Given the description of an element on the screen output the (x, y) to click on. 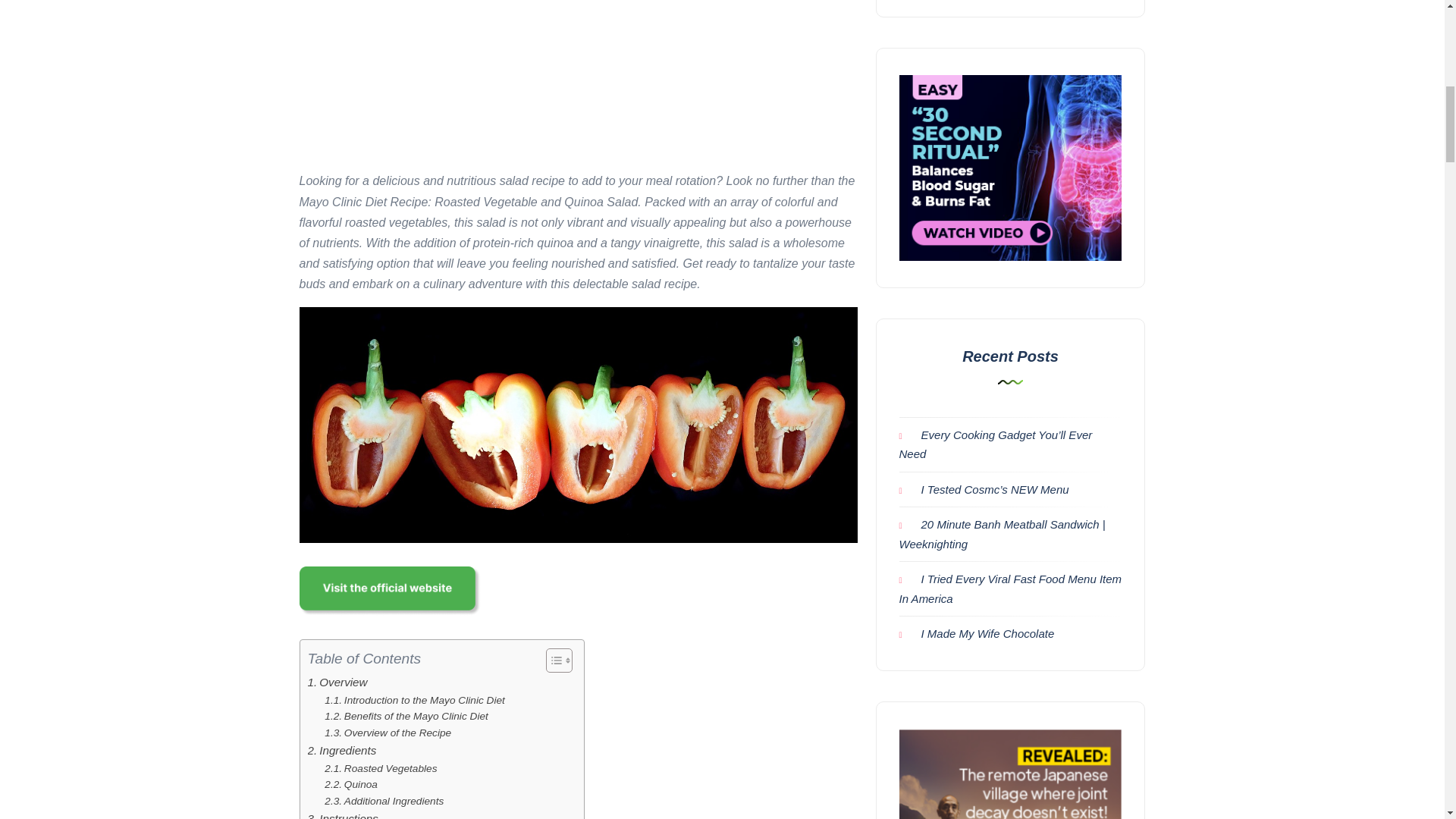
Ingredients (342, 751)
Overview (337, 682)
Roasted Vegetables (380, 768)
Introduction to the Mayo Clinic Diet (414, 700)
Overview of the Recipe (387, 733)
Mayo Clinic Diet Recipe: Roasted Vegetable And Quinoa Salad (577, 425)
Benefits of the Mayo Clinic Diet (405, 716)
Quinoa (350, 784)
